Given the description of an element on the screen output the (x, y) to click on. 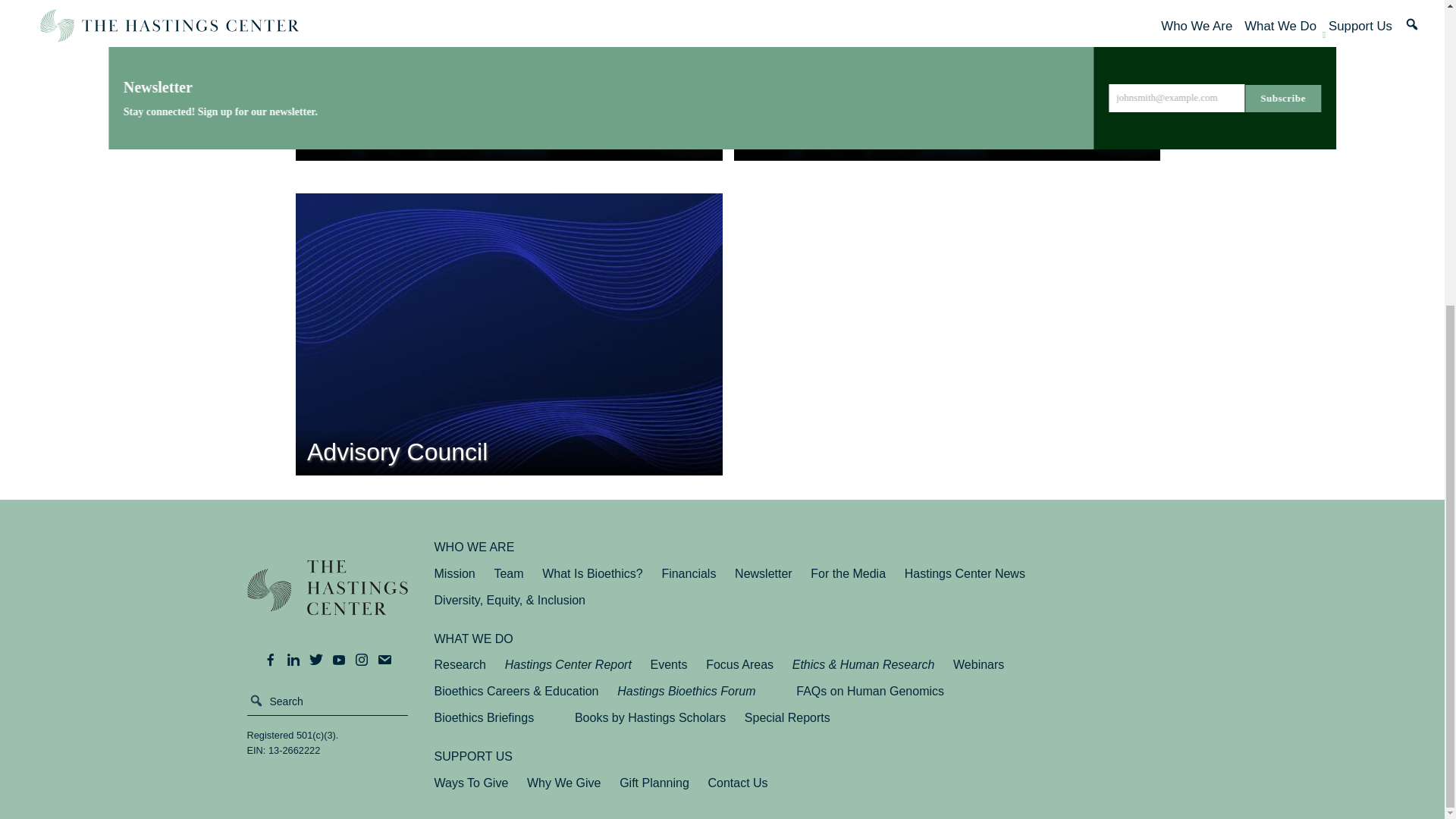
Search for: (327, 701)
The Hastings Center (327, 598)
